Given the description of an element on the screen output the (x, y) to click on. 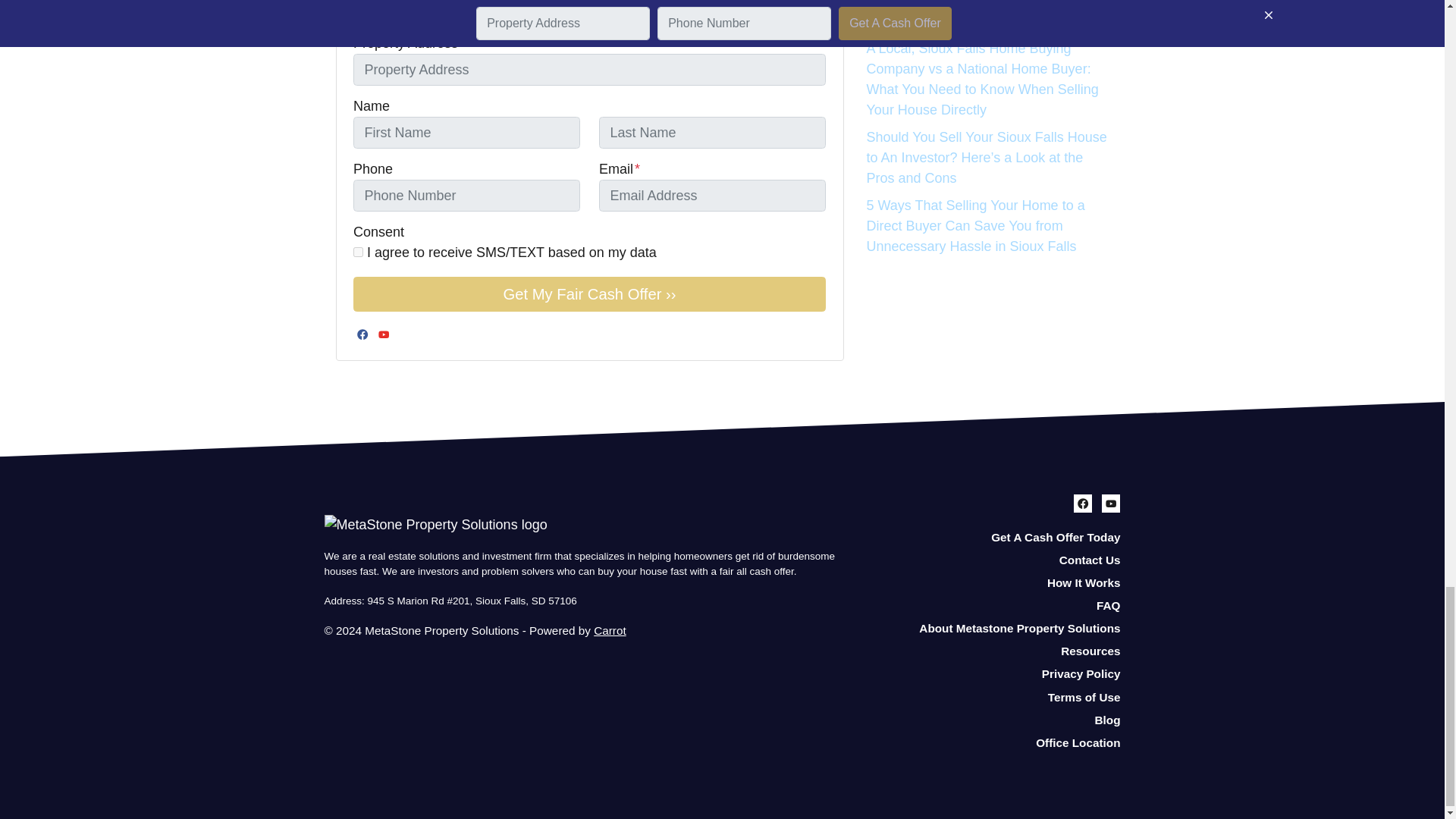
1 (357, 252)
